Given the description of an element on the screen output the (x, y) to click on. 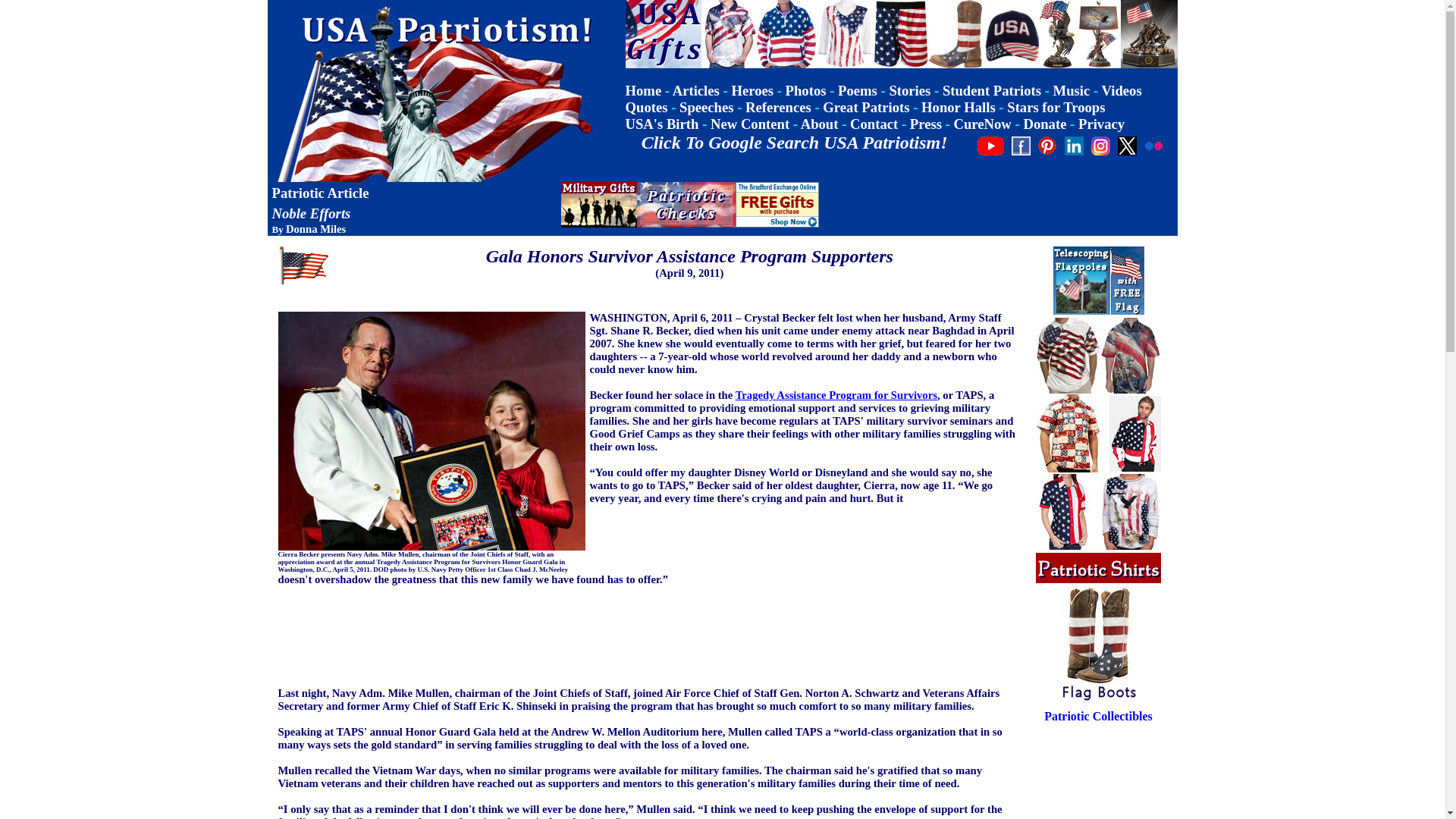
Advertisement (995, 204)
About (819, 123)
Music (1071, 90)
Student Patriots (991, 90)
Stories (909, 90)
Contact (874, 123)
Donate (1044, 123)
Great Patriots (865, 107)
New Content (749, 123)
Noble Efforts (310, 213)
Quotes (645, 107)
USA's Birth (661, 123)
CureNow (982, 123)
Poems (857, 90)
References (777, 107)
